Given the description of an element on the screen output the (x, y) to click on. 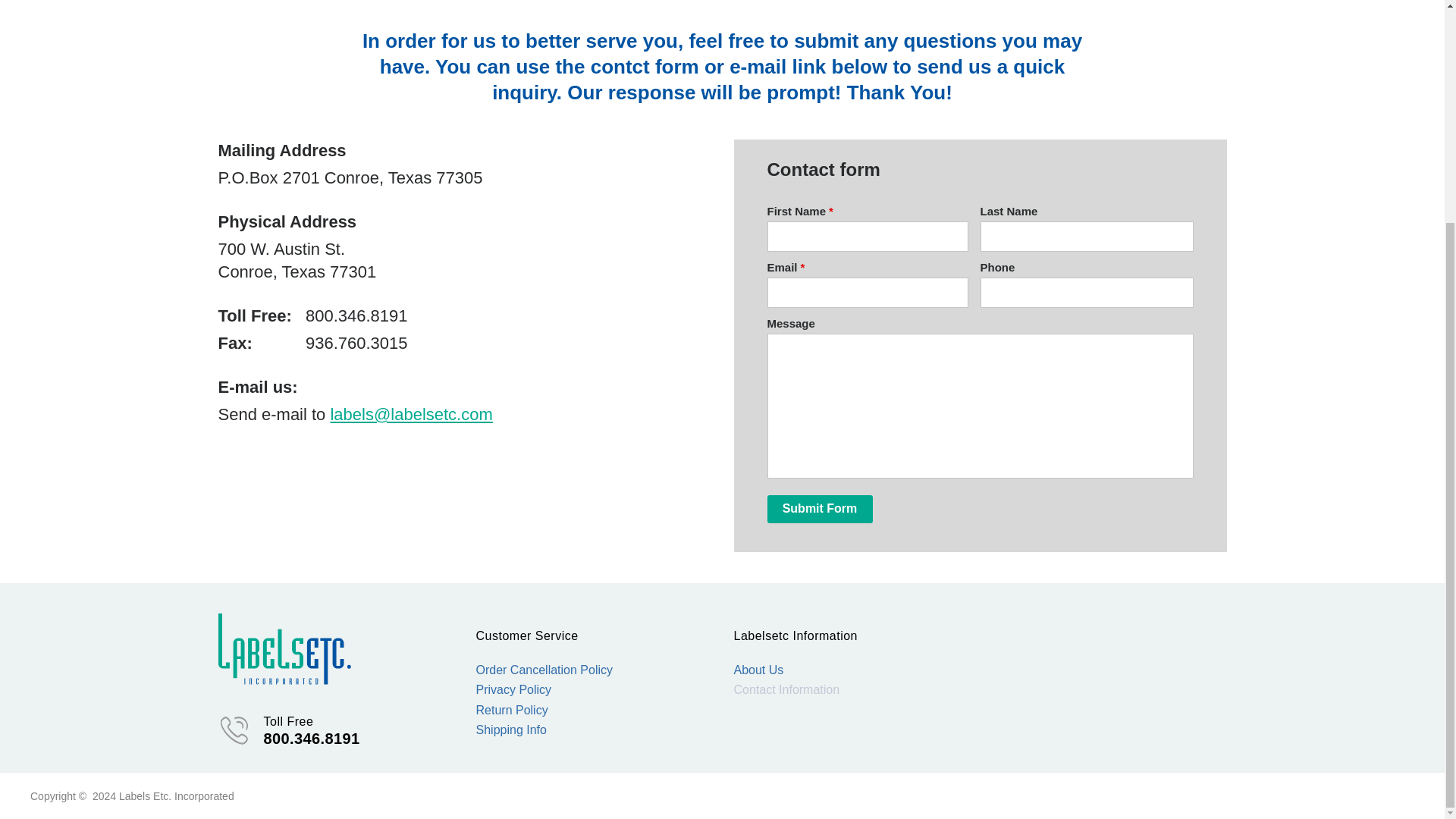
Submit Form (819, 509)
Labels Etc (284, 648)
